Given the description of an element on the screen output the (x, y) to click on. 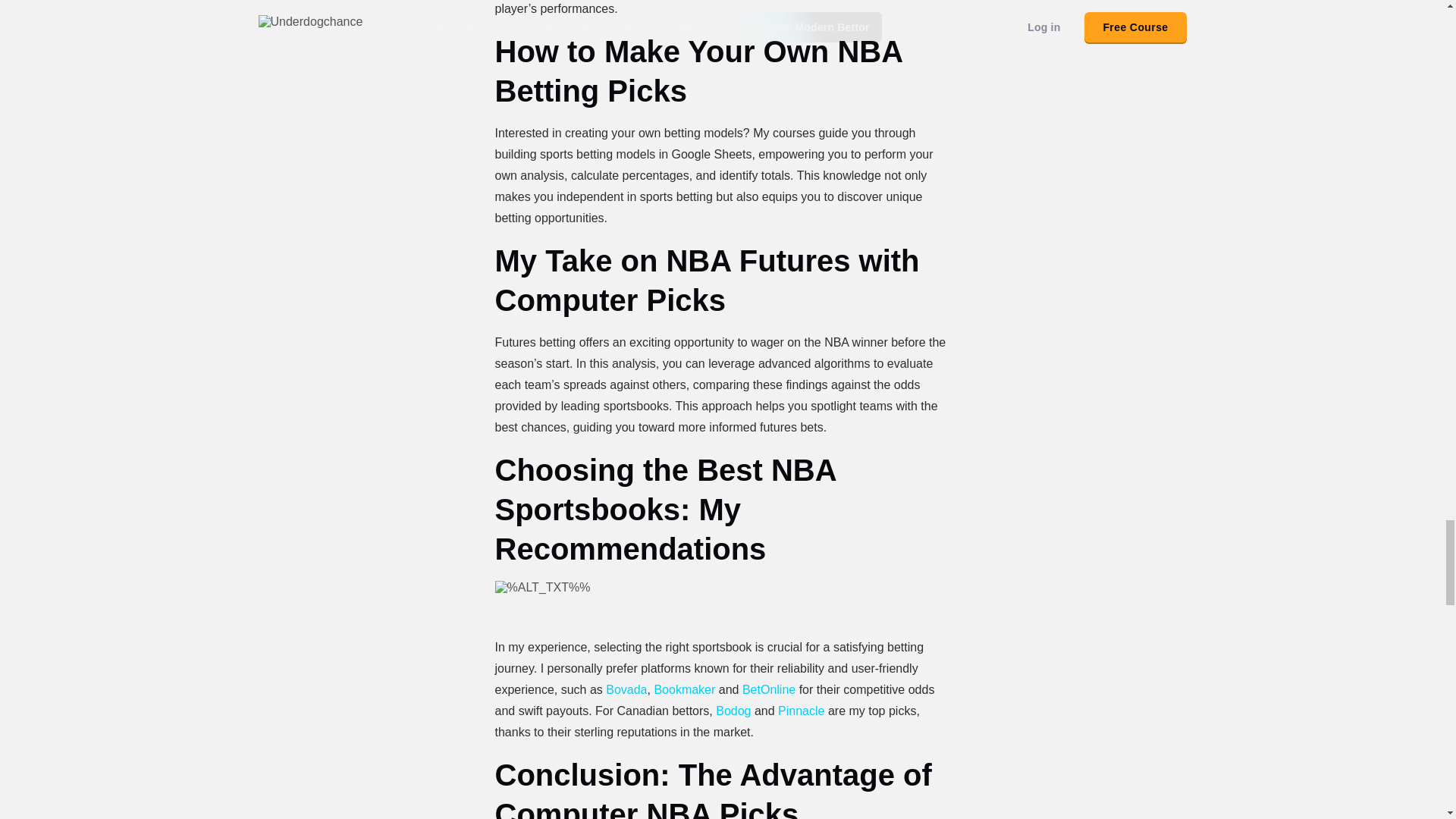
Bookmaker (683, 689)
Pinnacle (800, 710)
Bodog (733, 710)
Bovada (625, 689)
BetOnline (768, 689)
